Given the description of an element on the screen output the (x, y) to click on. 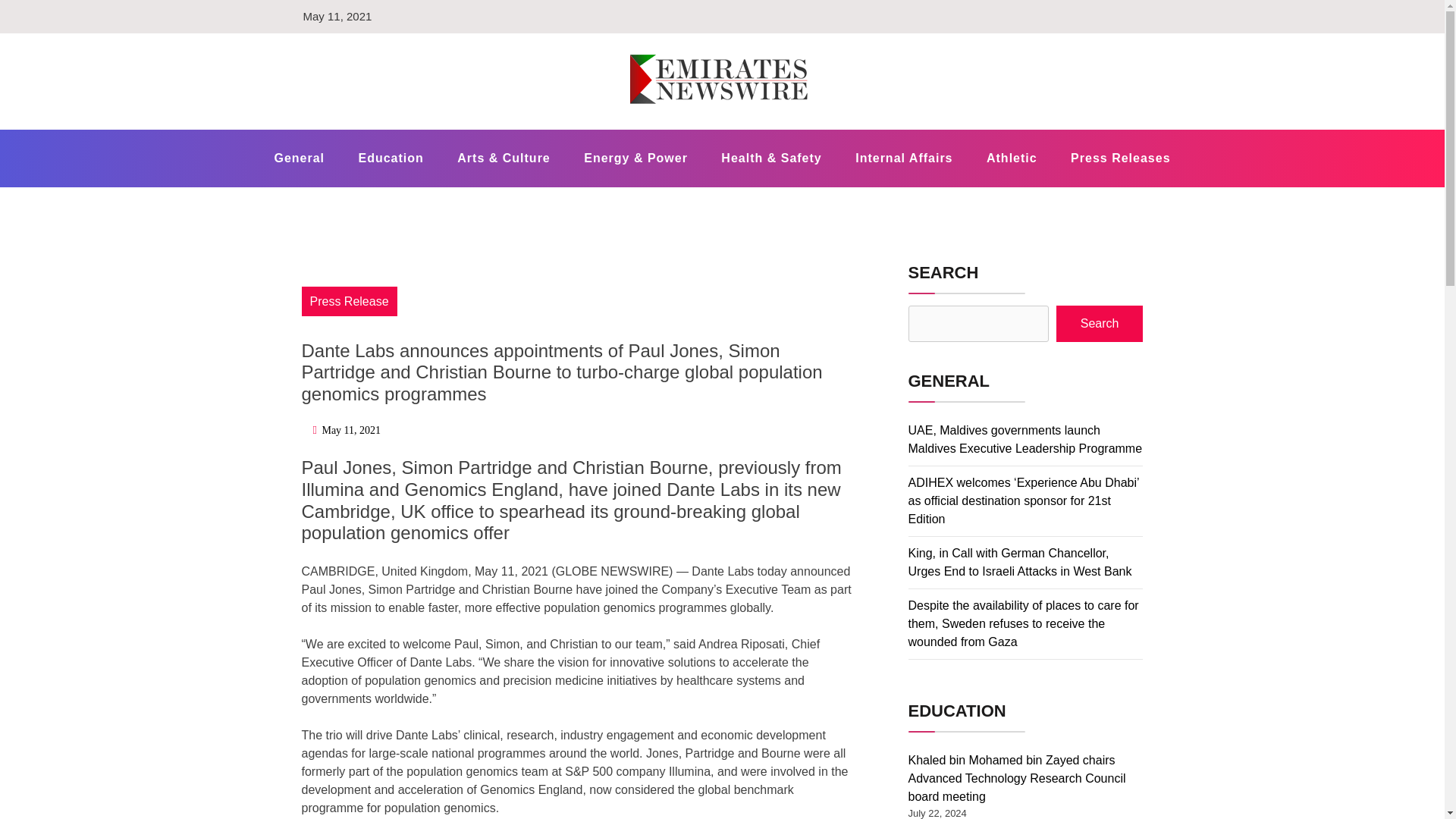
Press Release (349, 301)
Emirates Newswire (455, 128)
General (299, 158)
Education (390, 158)
May 11, 2021 (350, 430)
Internal Affairs (904, 158)
Press Releases (1120, 158)
Search (1099, 323)
